Given the description of an element on the screen output the (x, y) to click on. 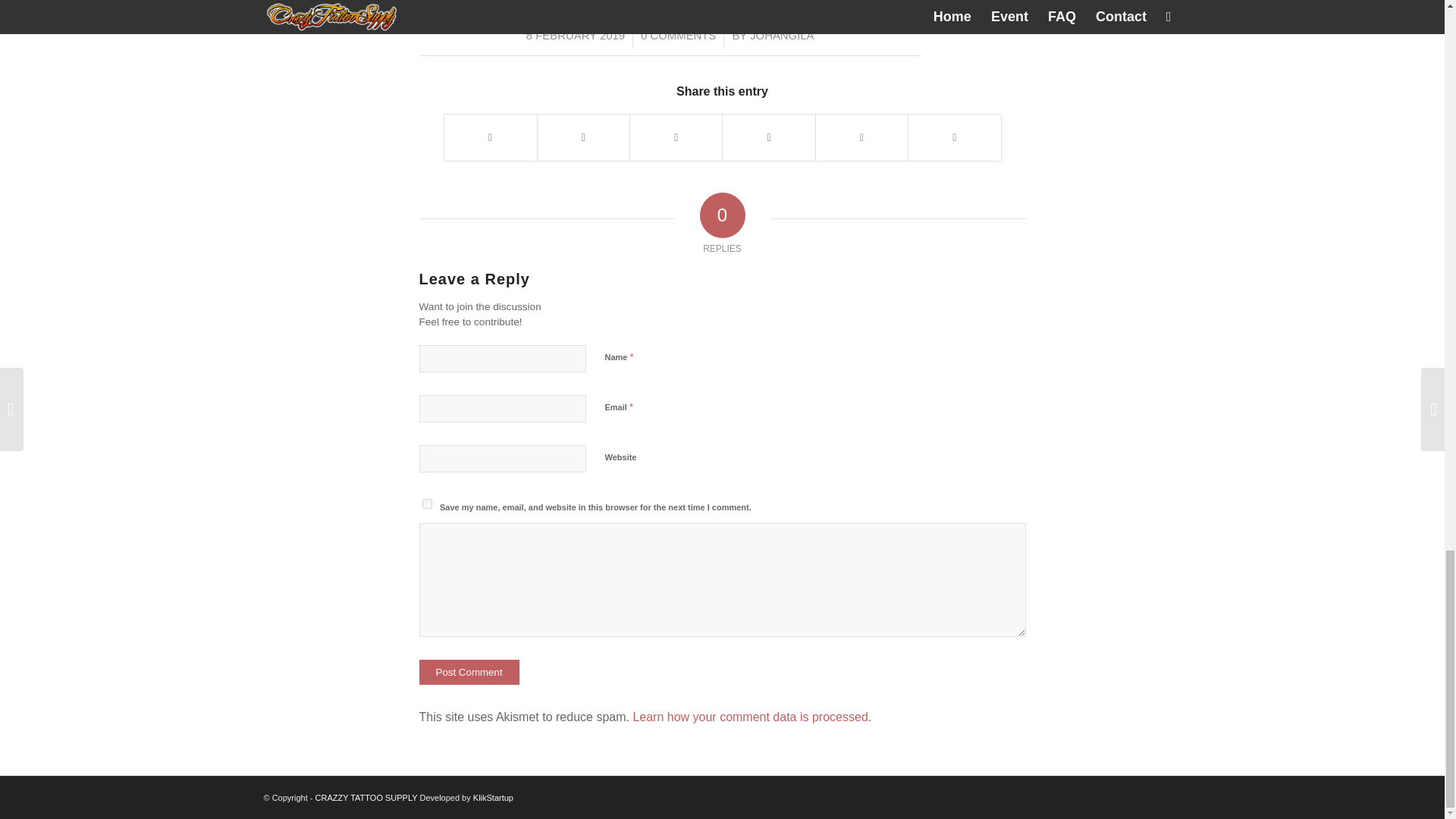
Learn how your comment data is processed (749, 716)
CRAZZY TATTOO SUPPLY (366, 797)
Post Comment (468, 672)
JOHANGILA (781, 35)
0 COMMENTS (678, 35)
Post Comment (468, 672)
yes (426, 503)
KlikStartup (493, 797)
Posts by johangila (781, 35)
